Given the description of an element on the screen output the (x, y) to click on. 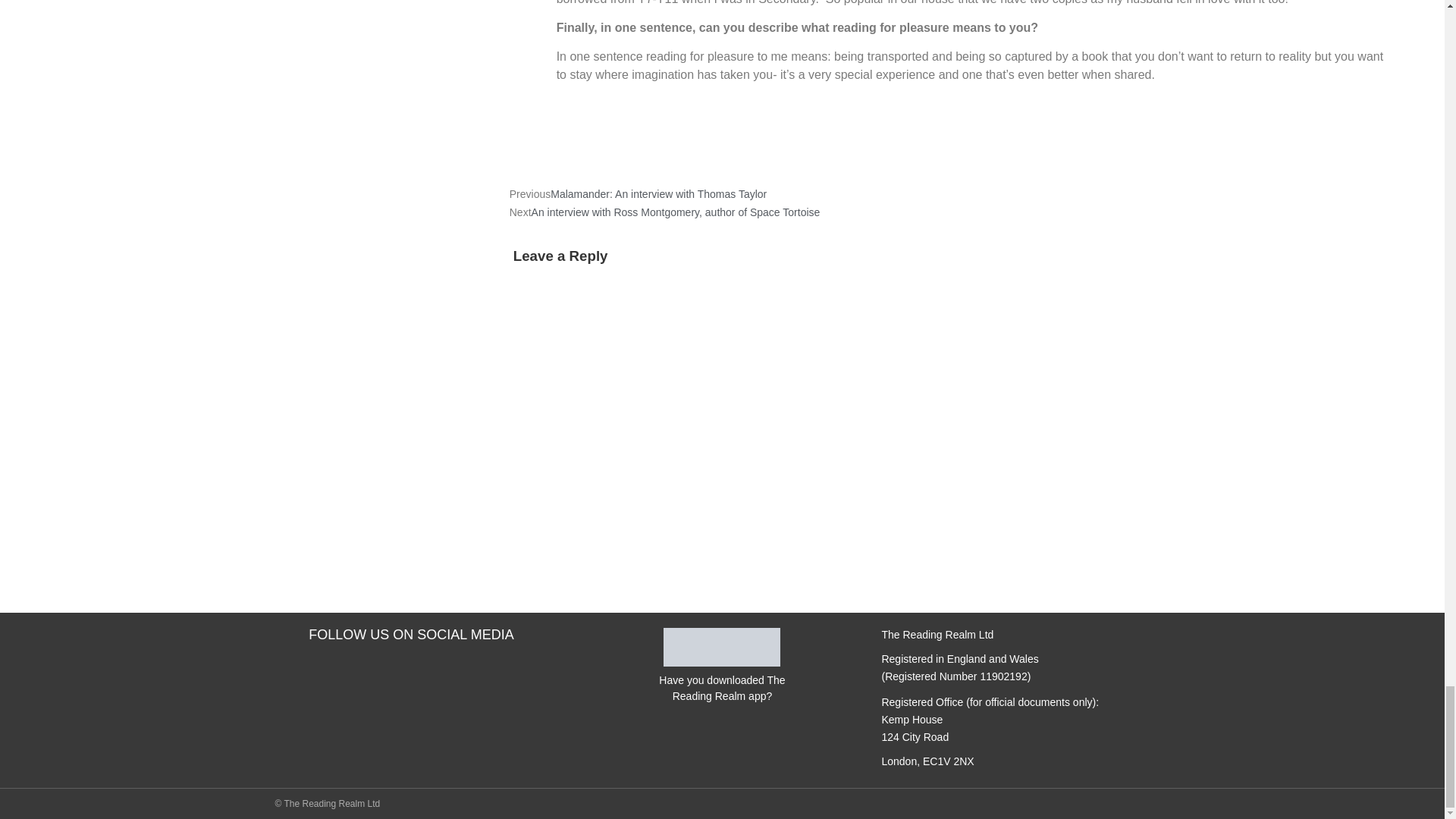
PreviousMalamander: An interview with Thomas Taylor (638, 193)
